Given the description of an element on the screen output the (x, y) to click on. 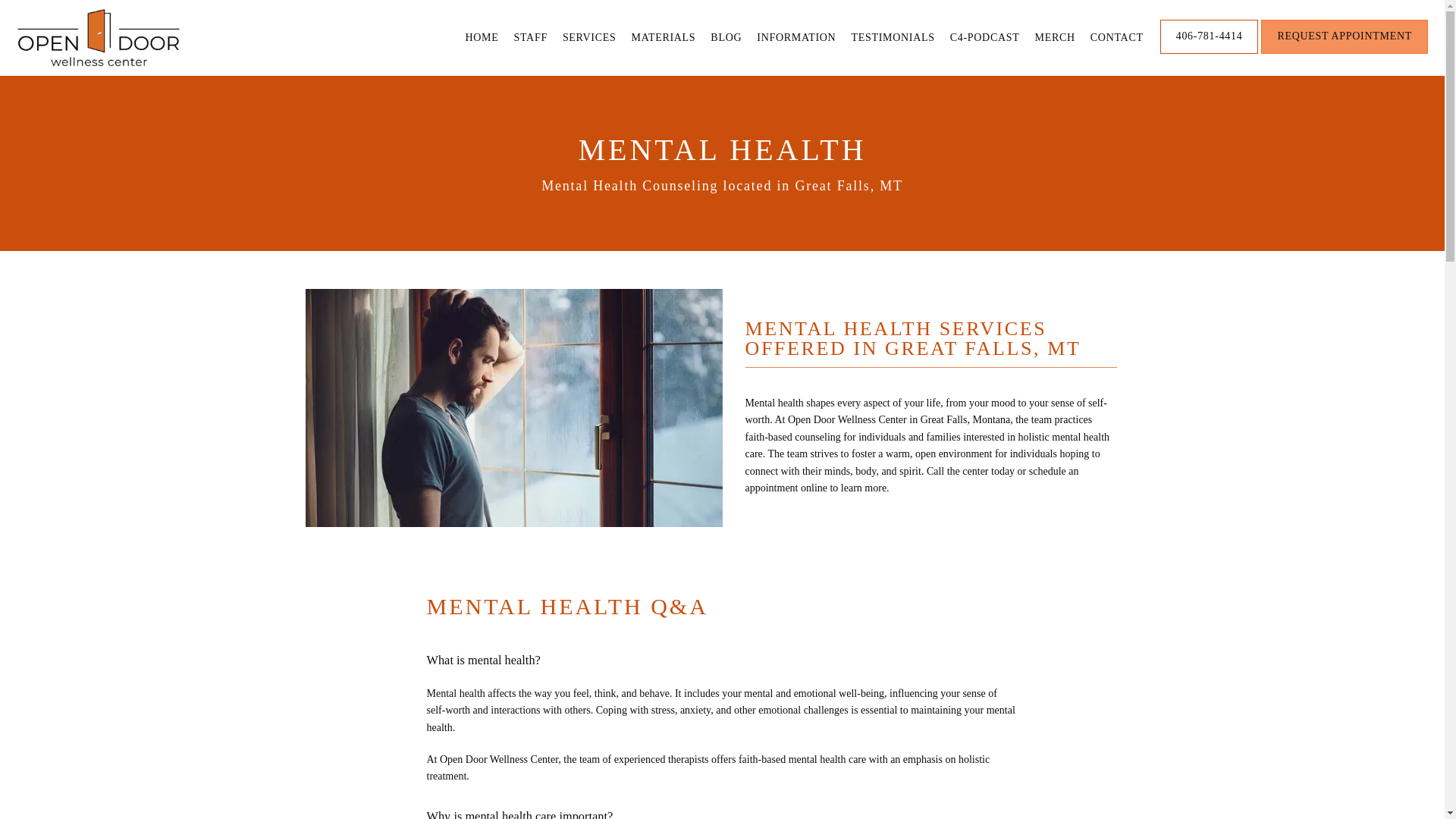
TESTIMONIALS (892, 37)
REQUEST APPOINTMENT (1344, 51)
CONTACT (1116, 37)
406-781-4414 (1209, 51)
MERCH (1055, 37)
STAFF (530, 37)
C4-PODCAST (985, 37)
INFORMATION (796, 37)
BLOG (725, 37)
MATERIALS (662, 37)
